Given the description of an element on the screen output the (x, y) to click on. 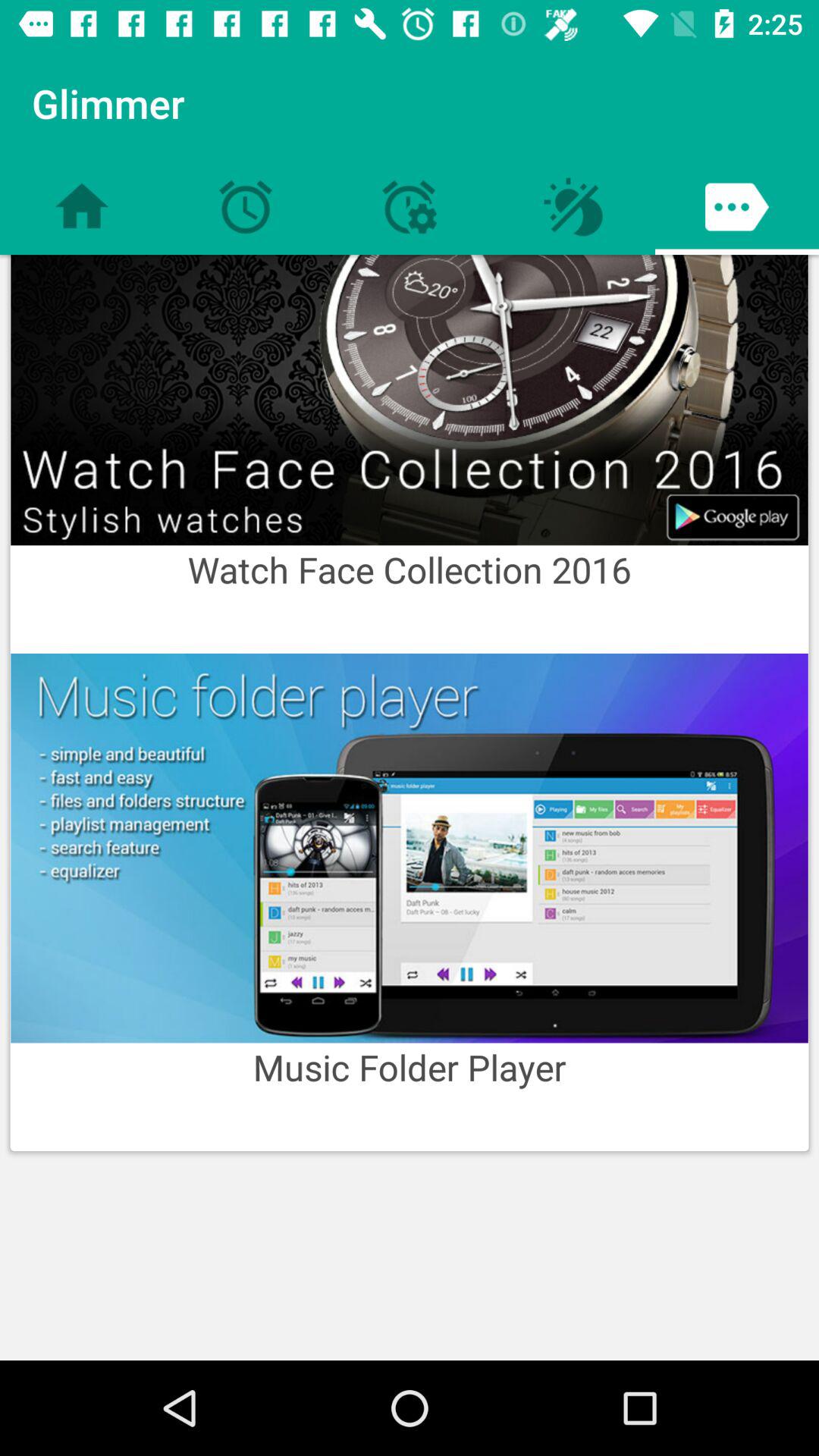
follow the banner (409, 399)
